Given the description of an element on the screen output the (x, y) to click on. 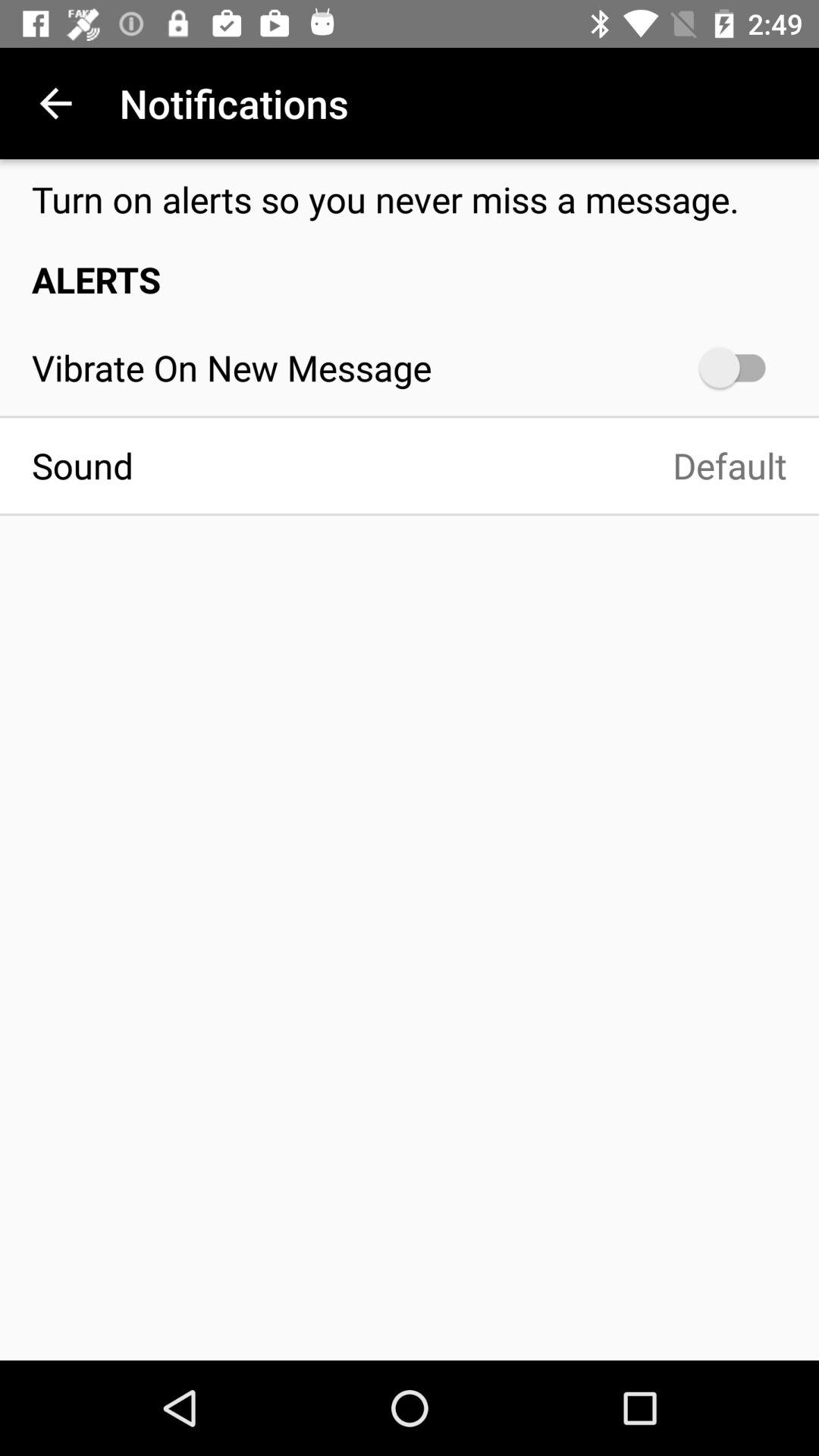
launch the icon next to vibrate on new item (739, 367)
